Given the description of an element on the screen output the (x, y) to click on. 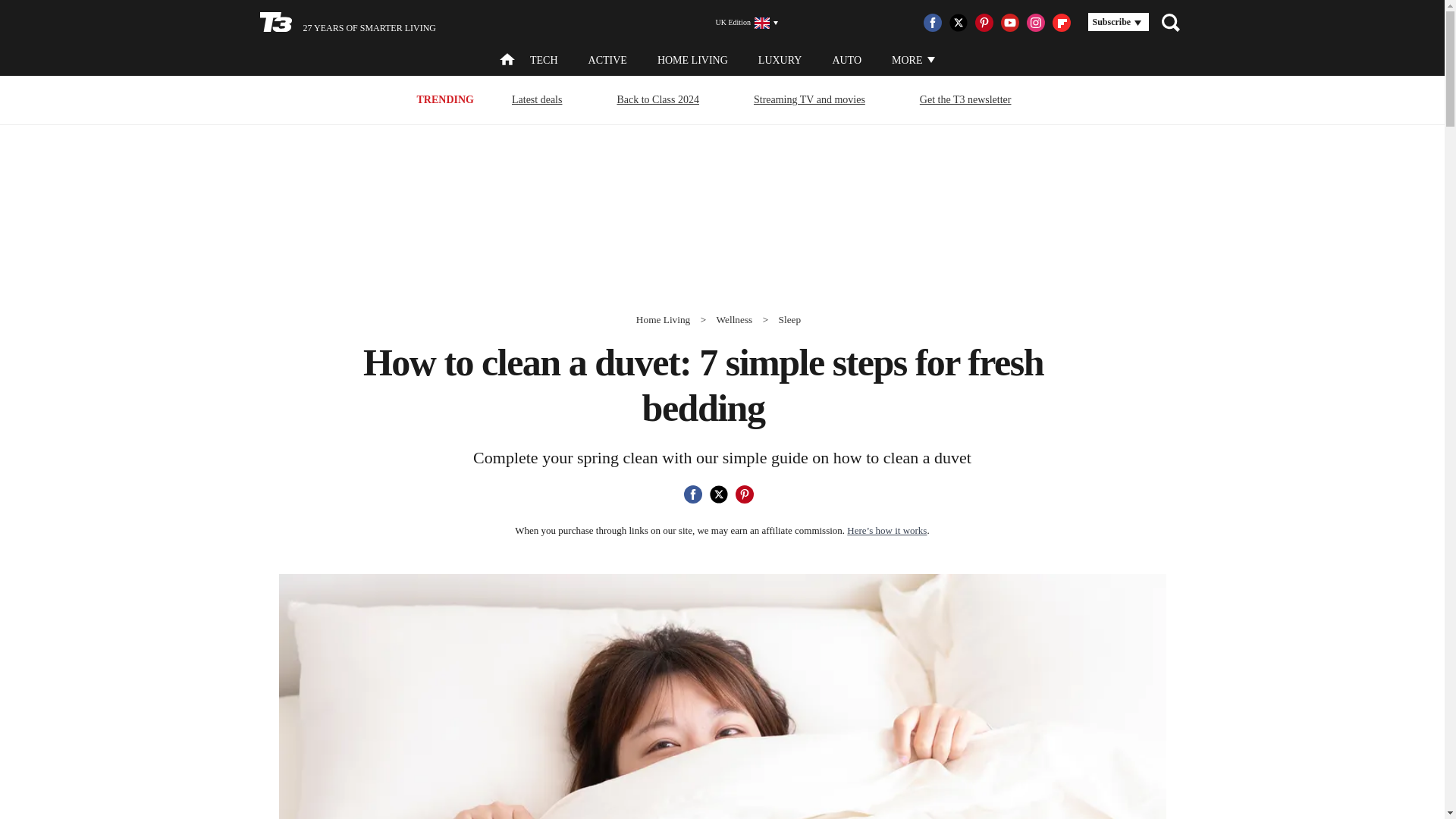
27 YEARS OF SMARTER LIVING (347, 23)
ACTIVE (607, 60)
UK Edition (740, 22)
LUXURY (780, 60)
AUTO (846, 60)
Latest deals (536, 99)
TECH (543, 60)
Streaming TV and movies (809, 99)
HOME LIVING (693, 60)
Back to Class 2024 (657, 99)
